Given the description of an element on the screen output the (x, y) to click on. 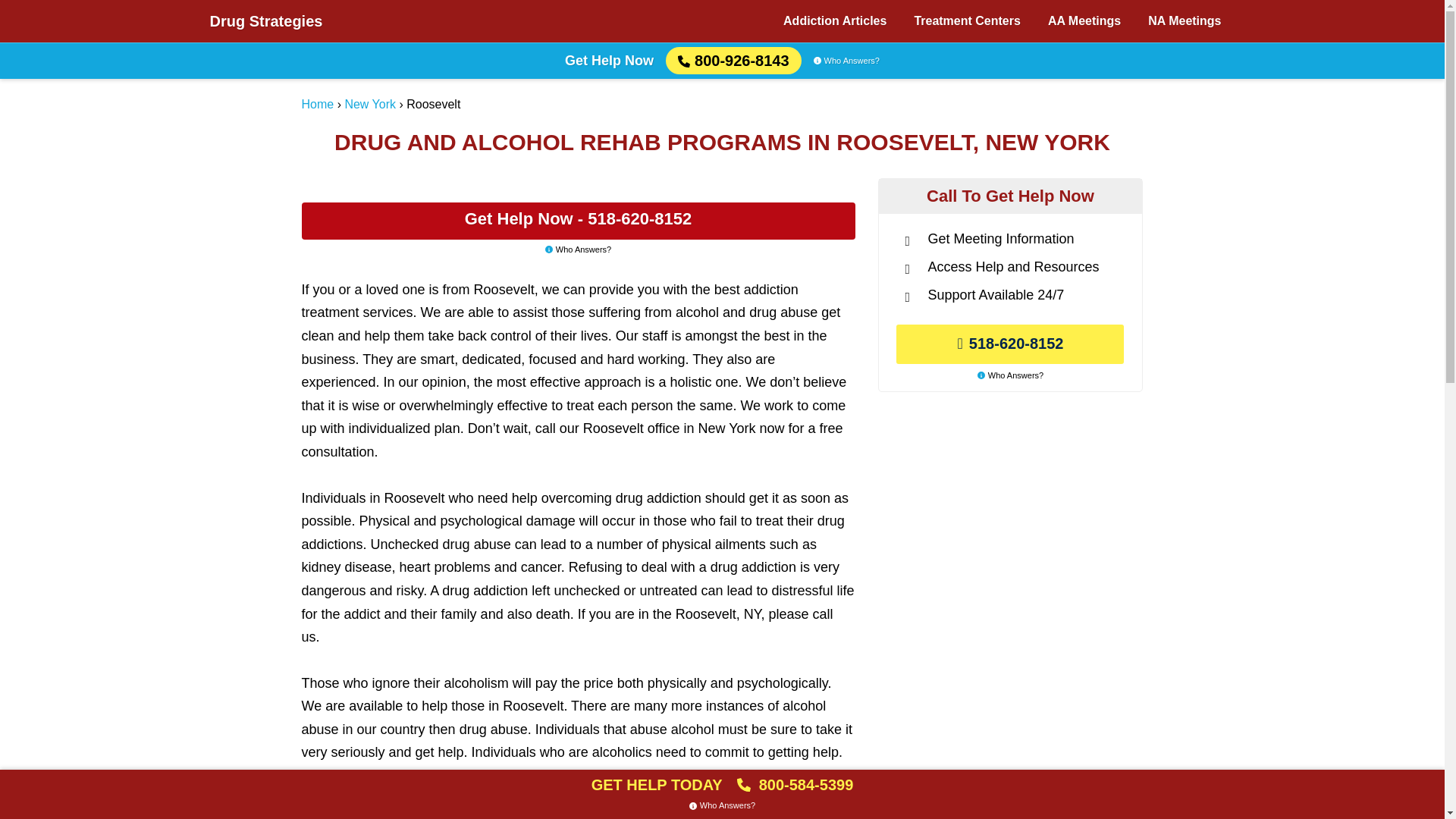
New York (369, 103)
Get Help Now - 518-620-8152 (578, 220)
Drug Strategies (265, 21)
518-620-8152 (1010, 343)
800-926-8143 (733, 60)
Treatment Centers (966, 21)
AA Meetings (1083, 21)
Home (317, 103)
NA Meetings (1184, 21)
Get Help Now (608, 60)
